Given the description of an element on the screen output the (x, y) to click on. 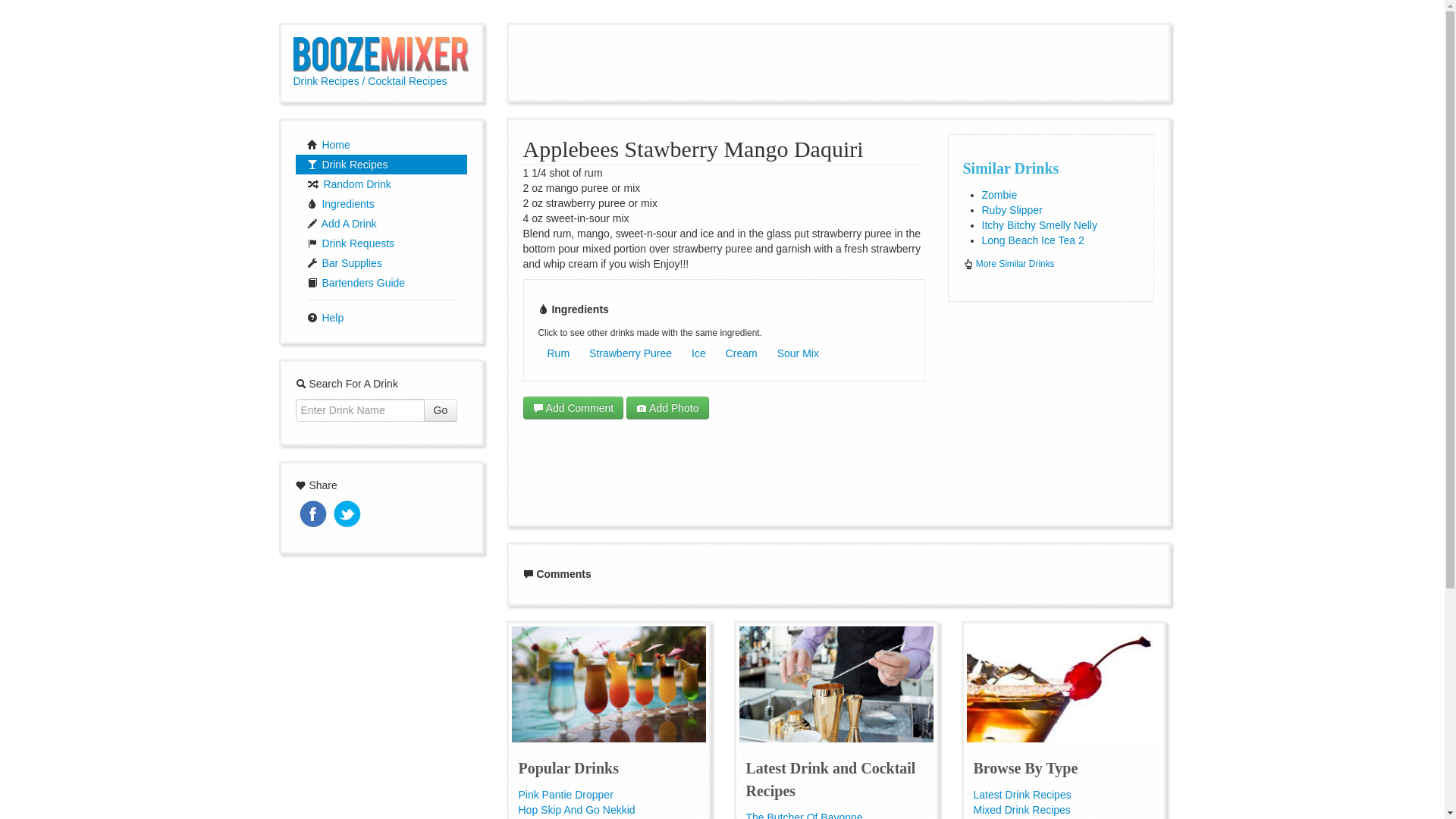
The Butcher Of Bayonne (804, 815)
 Drink Requests (381, 243)
 Random Drink (381, 184)
 Bar Supplies (381, 262)
 Home (381, 144)
 Ingredients (381, 203)
Random Drink (381, 184)
Pink Pantie Dropper (565, 794)
The Butcher of Bayonne (804, 815)
Advertisement (1049, 411)
